Given the description of an element on the screen output the (x, y) to click on. 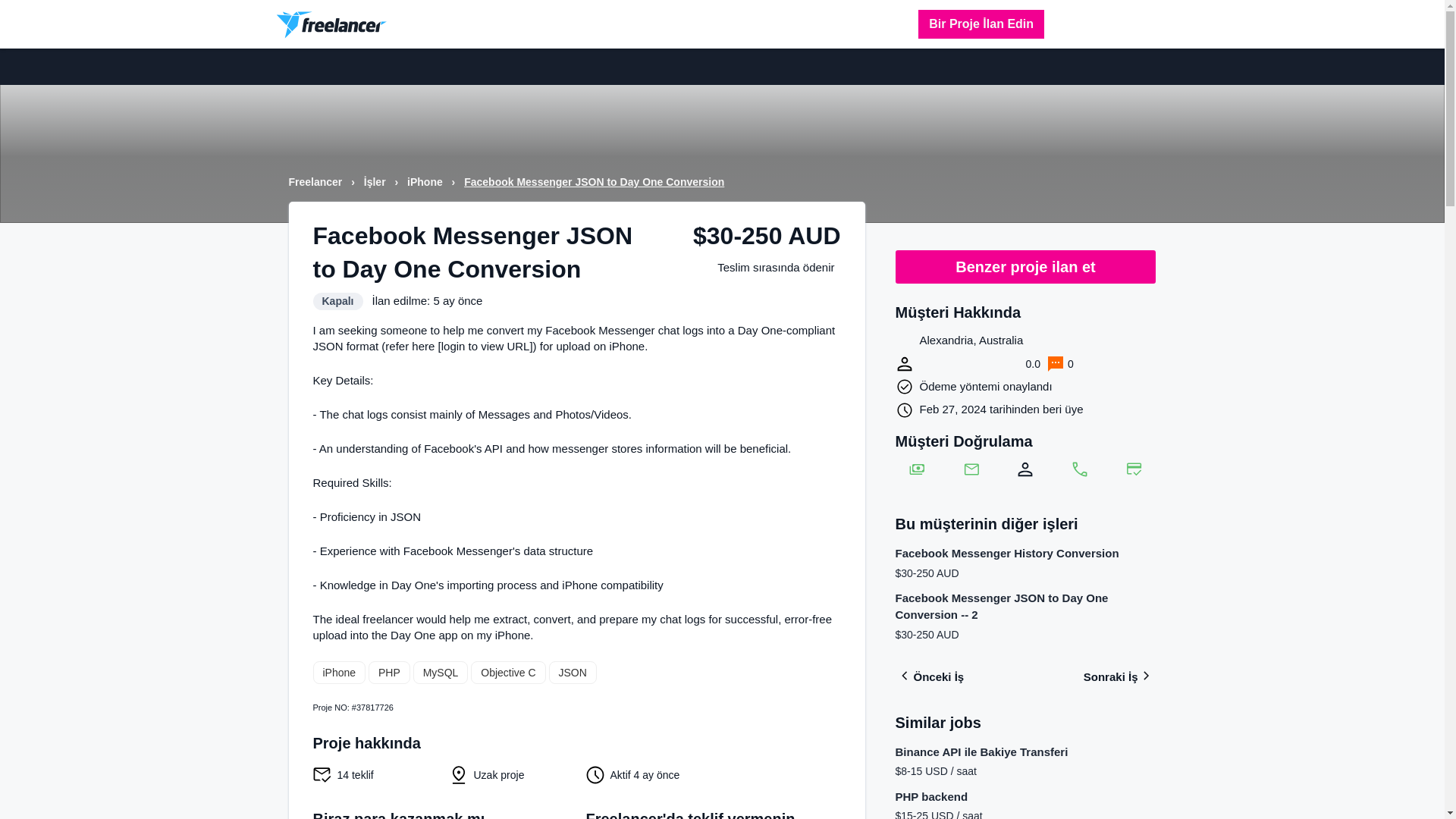
MySQL (440, 671)
iPhone (339, 671)
PHP (389, 671)
Benzer proje ilan et (1025, 266)
Freelancer (316, 182)
Objective C (507, 671)
Australia (904, 341)
JSON (572, 671)
iPhone (426, 182)
